Given the description of an element on the screen output the (x, y) to click on. 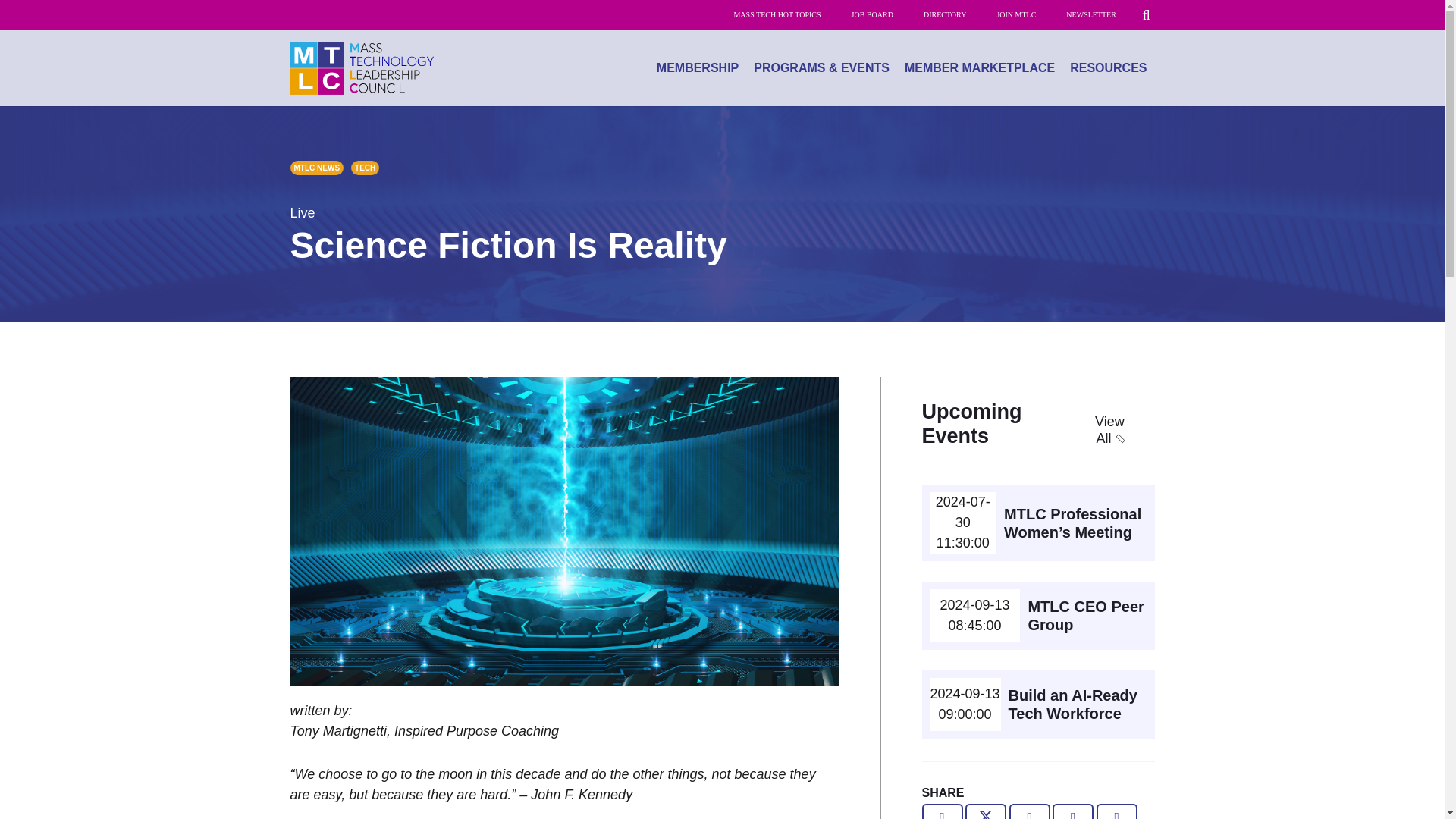
NEWSLETTER (1091, 15)
DIRECTORY (944, 15)
MEMBERSHIP (697, 68)
MASS TECH HOT TOPICS (776, 15)
Share this (941, 811)
RESOURCES (1108, 68)
Share this (1029, 811)
MEMBER MARKETPLACE (979, 68)
Share this (1072, 811)
JOIN MTLC (1016, 15)
JOB BOARD (871, 15)
Share this (1116, 811)
Tweet this (985, 811)
